Given the description of an element on the screen output the (x, y) to click on. 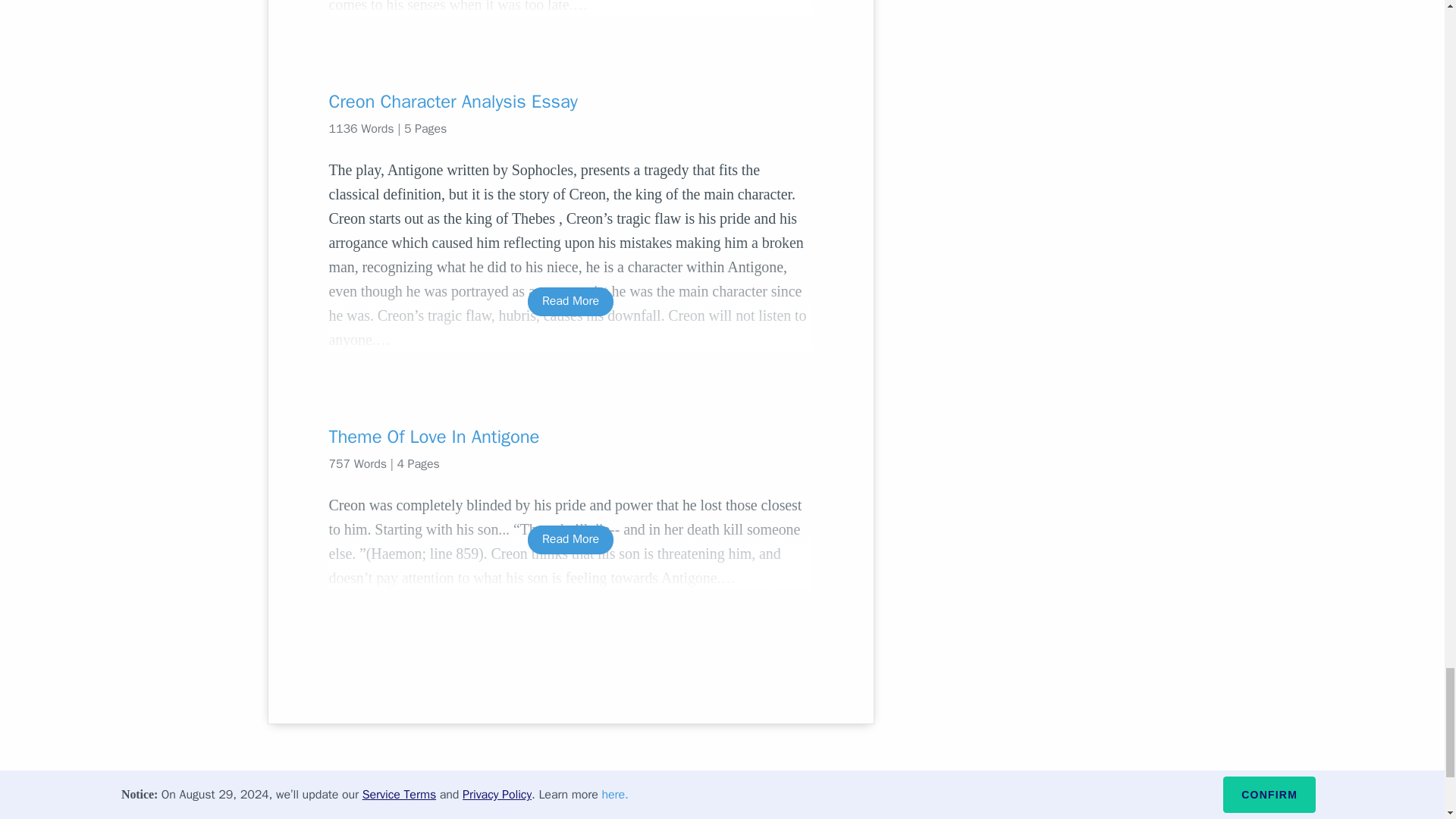
Contact Us (460, 807)
Terms of Service (548, 807)
About Ads (389, 807)
Privacy Policy (313, 807)
